Given the description of an element on the screen output the (x, y) to click on. 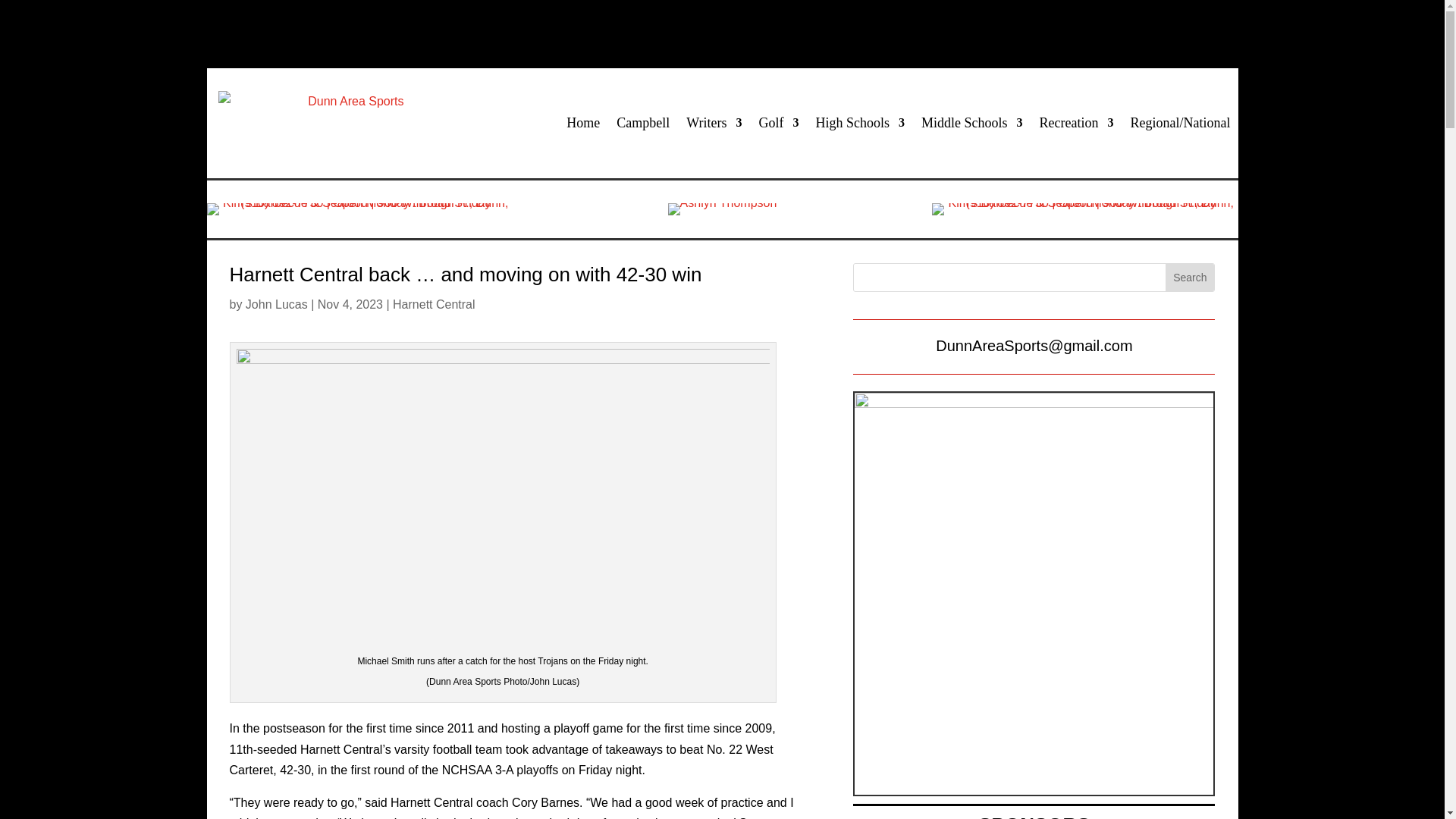
Harnett Central (434, 304)
Middle Schools (972, 122)
Search (1190, 277)
Kim's Barbecue Ad (359, 209)
High Schools (860, 122)
Ashlyn Thompson (722, 209)
Recreation (1076, 122)
Search (1190, 277)
John Lucas (276, 304)
